Given the description of an element on the screen output the (x, y) to click on. 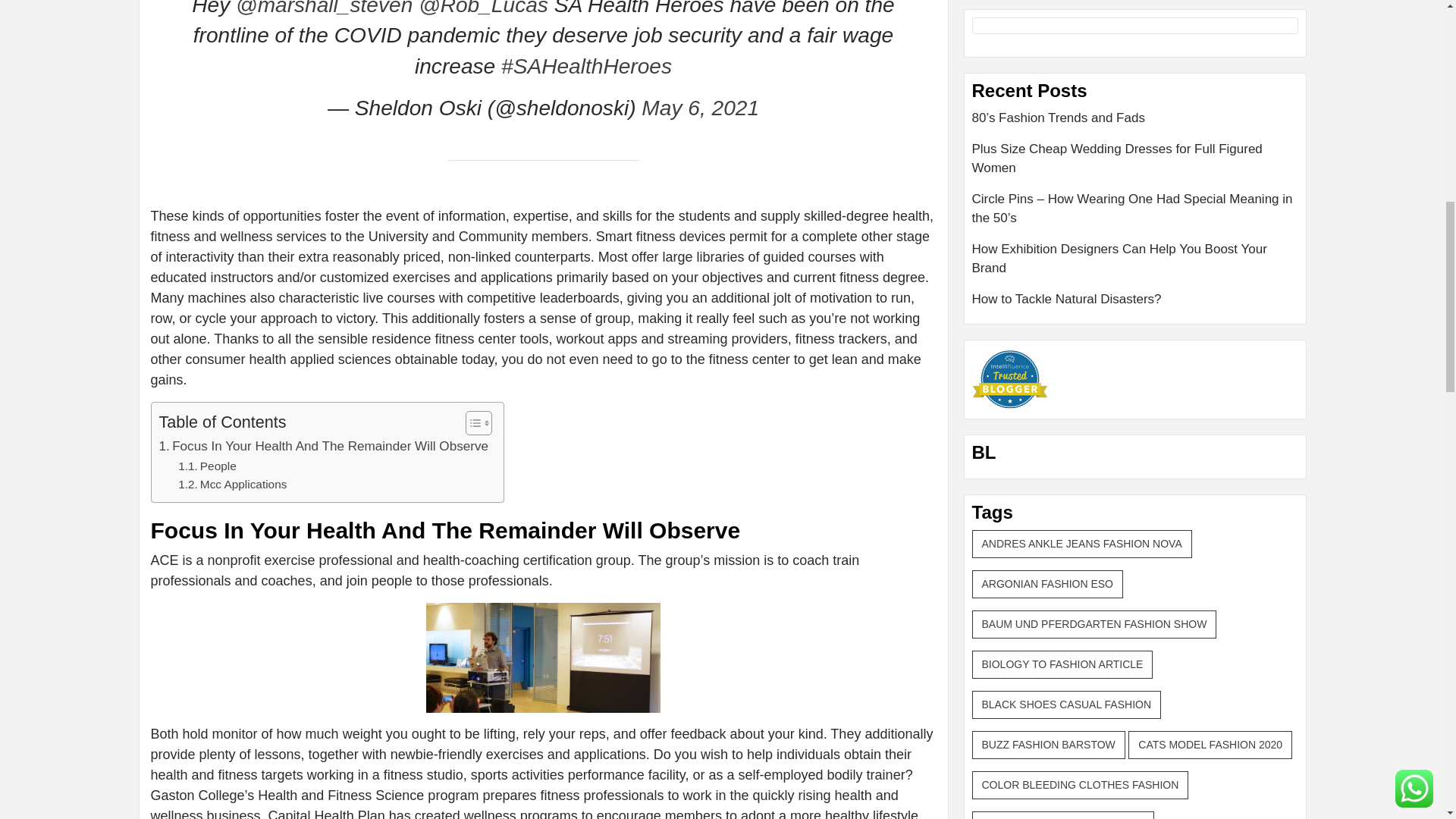
People (206, 466)
Focus In Your Health And The Remainder Will Observe (322, 445)
Focus In Your Health And The Remainder Will Observe (322, 445)
Mcc Applications (231, 484)
Mcc Applications (231, 484)
People (206, 466)
May 6, 2021 (700, 107)
